Given the description of an element on the screen output the (x, y) to click on. 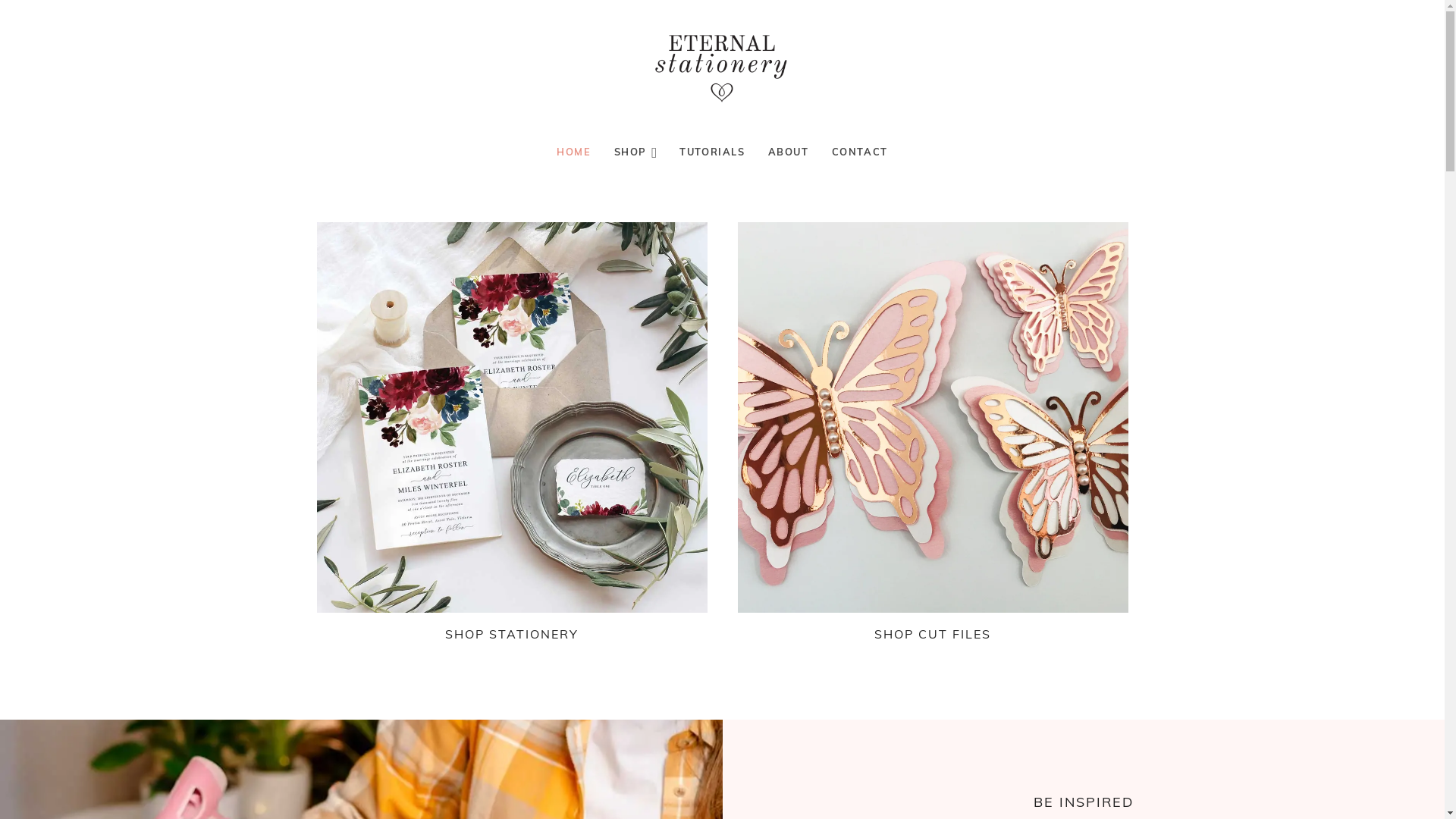
SHOP CUT FILES Element type: text (932, 633)
ABOUT Element type: text (788, 151)
HOME Element type: text (573, 151)
TUTORIALS Element type: text (712, 151)
SHOP STATIONERY Element type: text (511, 633)
CONTACT Element type: text (859, 151)
SHOP Element type: text (635, 151)
